Given the description of an element on the screen output the (x, y) to click on. 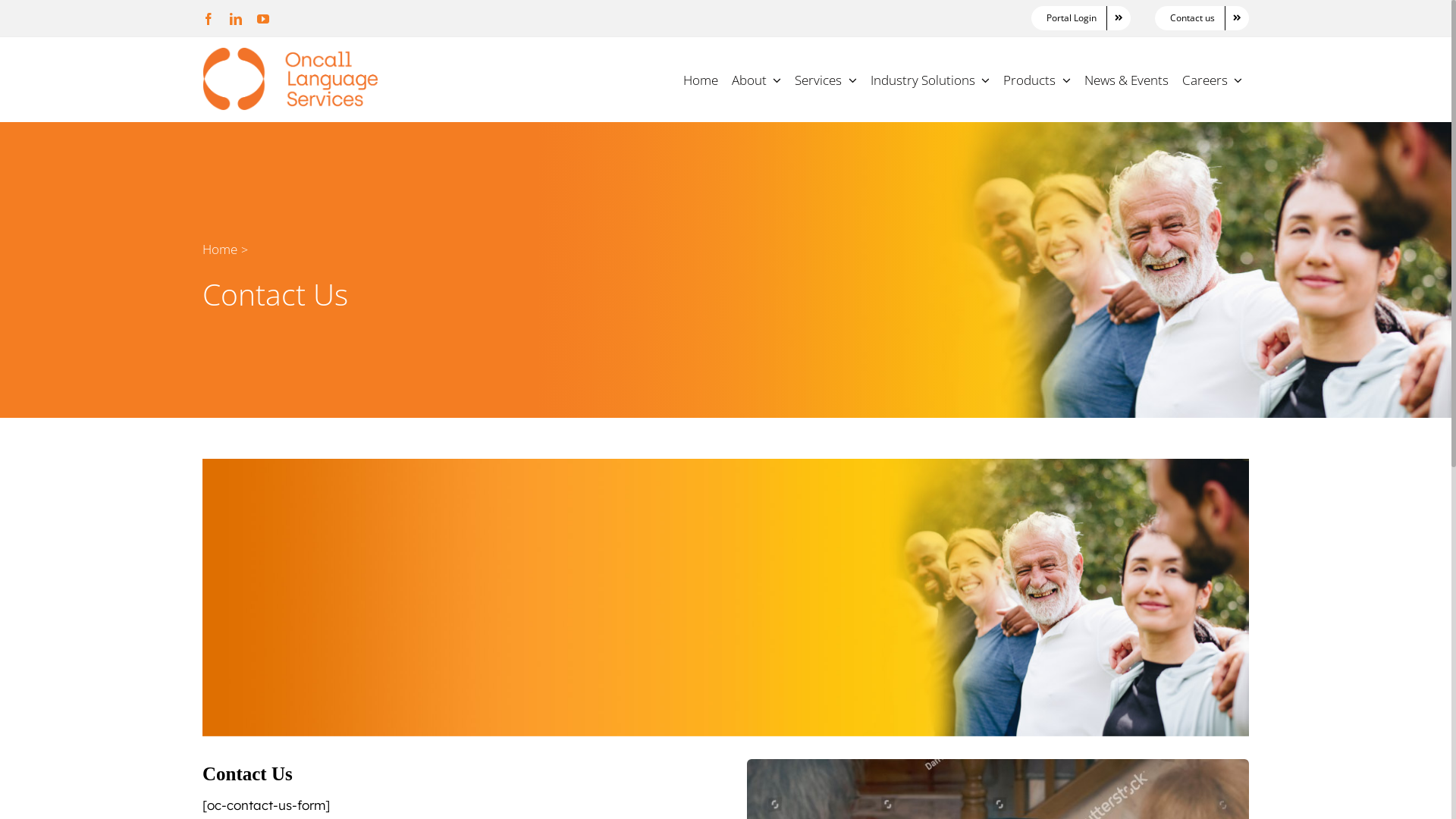
Home Element type: text (700, 78)
Services Element type: text (825, 78)
Portal Login Element type: text (1080, 18)
Contact us Element type: text (1201, 18)
Home Element type: text (219, 248)
News & Events Element type: text (1126, 78)
Industry Solutions Element type: text (930, 78)
About Element type: text (756, 78)
Products Element type: text (1036, 78)
Careers Element type: text (1212, 78)
